Given the description of an element on the screen output the (x, y) to click on. 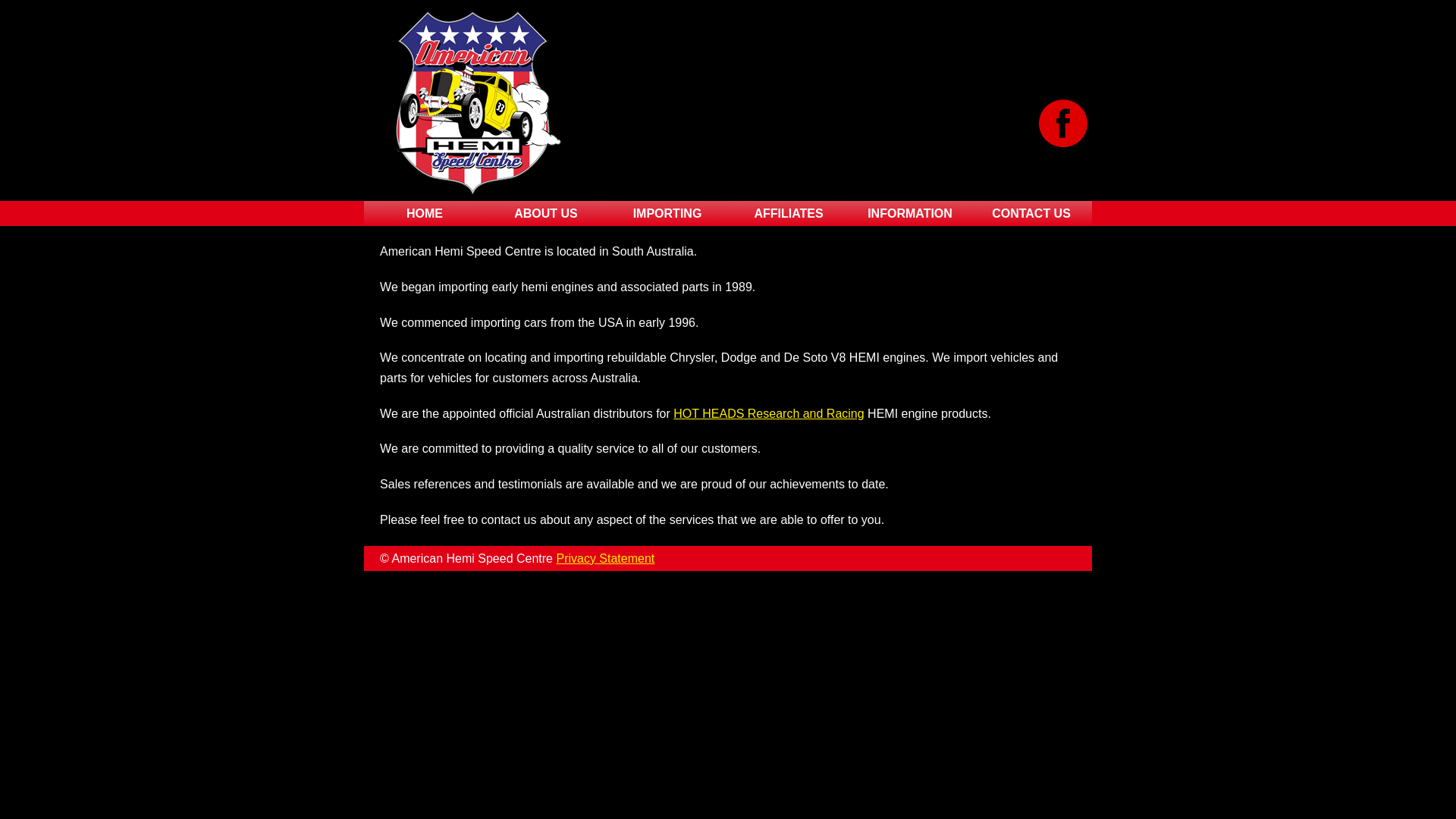
LIKE US ON FACEBOOK! Element type: text (1062, 122)
INFORMATION Element type: text (909, 212)
CONTACT US Element type: text (1031, 212)
ABOUT US Element type: text (545, 212)
IMPORTING Element type: text (667, 212)
AFFILIATES Element type: text (788, 212)
HOME Element type: text (424, 212)
Privacy Statement Element type: text (604, 558)
HOT HEADS Research and Racing Element type: text (768, 413)
